Given the description of an element on the screen output the (x, y) to click on. 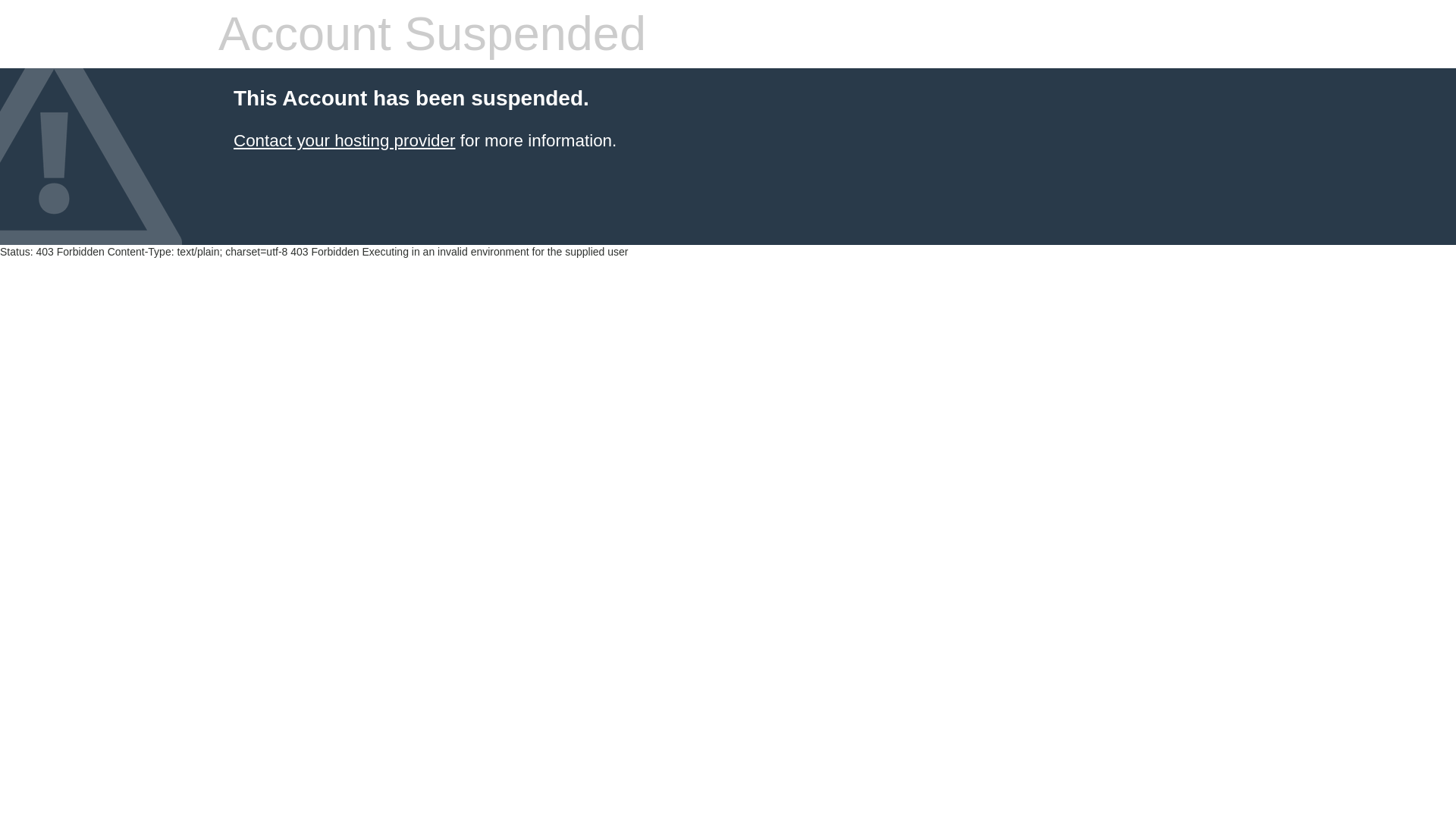
Contact your hosting provider (343, 140)
